Given the description of an element on the screen output the (x, y) to click on. 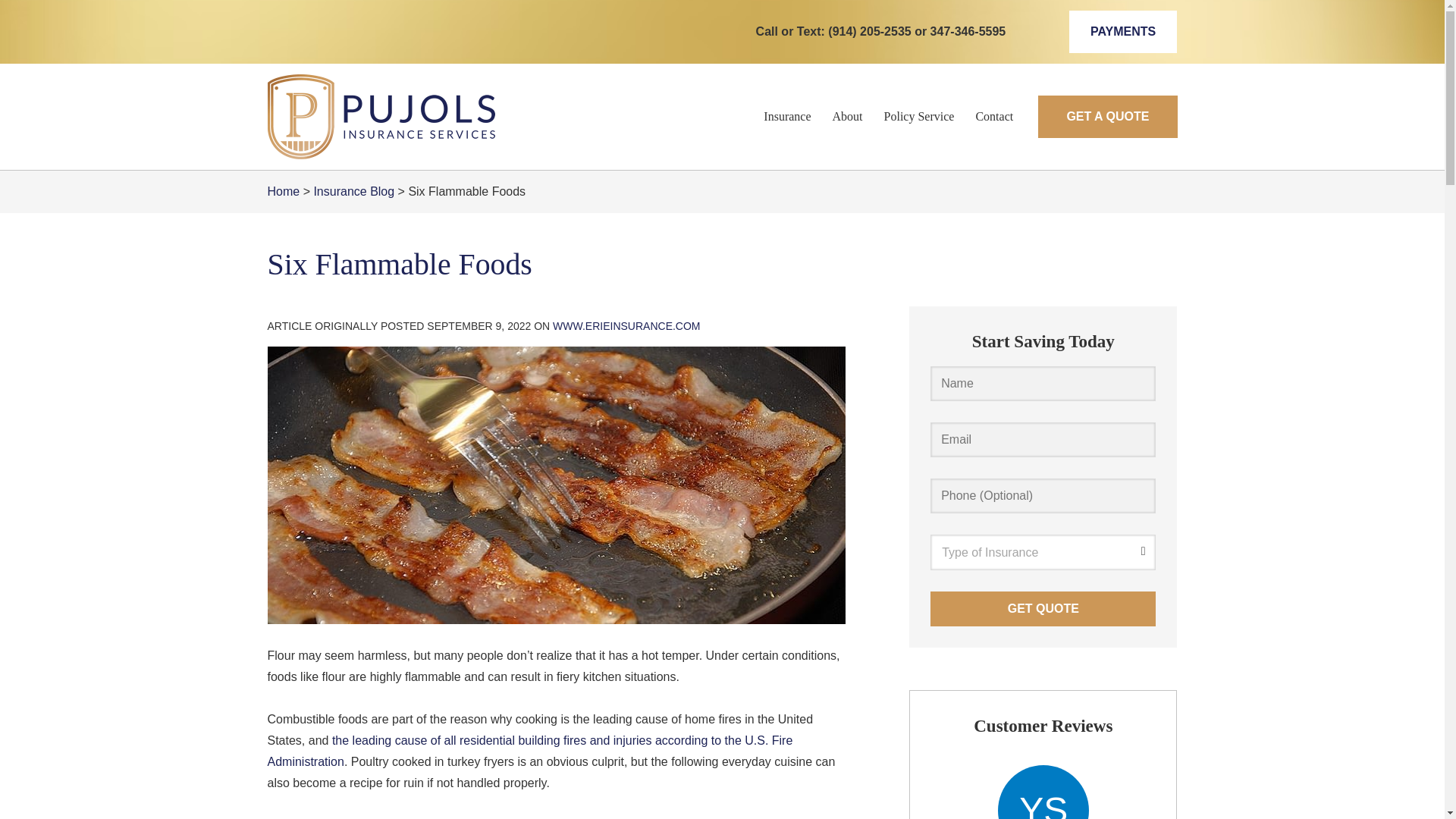
Insurance (786, 116)
Policy Service (919, 116)
About (847, 116)
PAYMENTS (1122, 31)
Get Quote (1043, 608)
Home Page (411, 116)
Contact (993, 116)
